Given the description of an element on the screen output the (x, y) to click on. 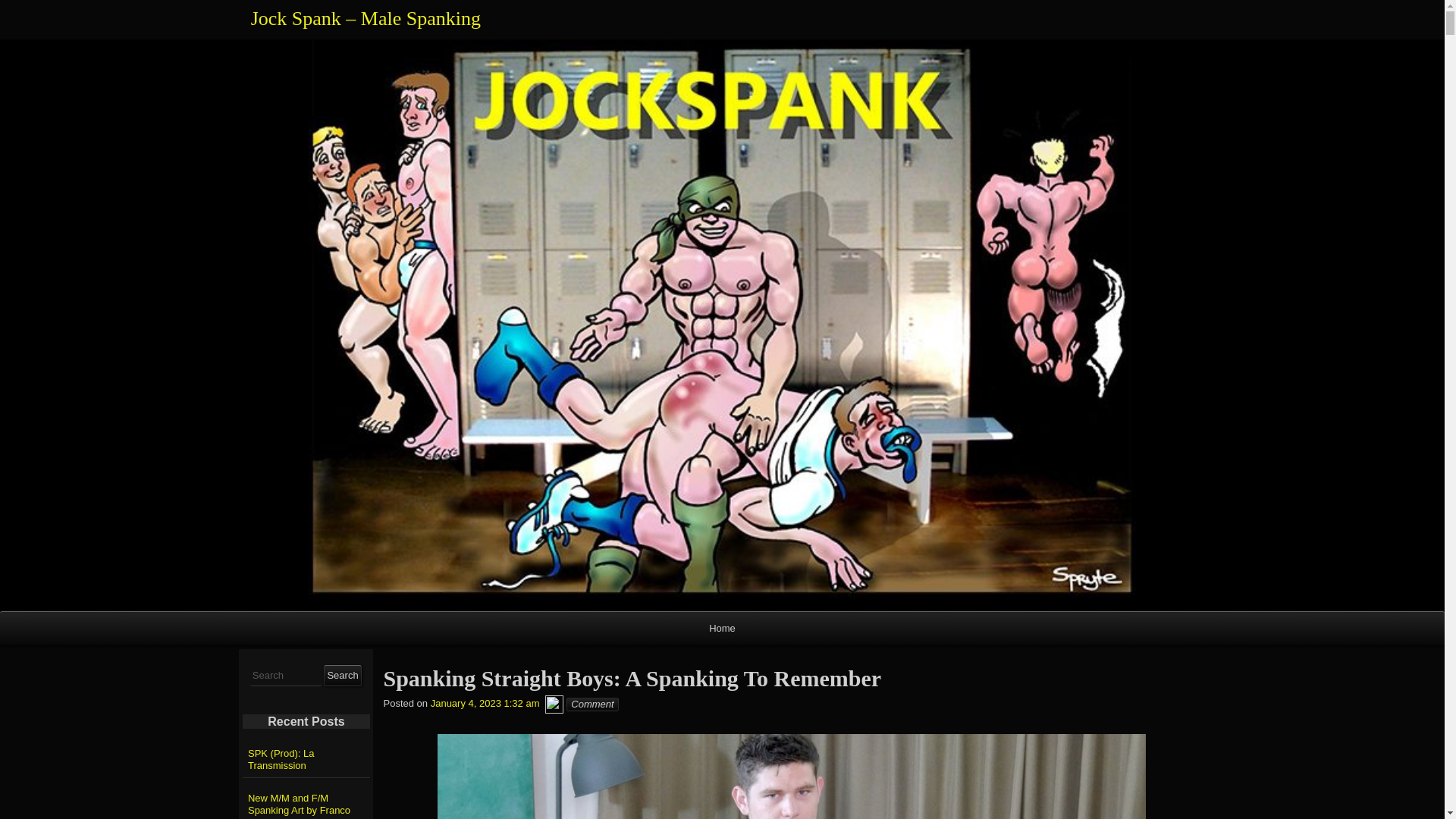
Search (342, 675)
Home (721, 628)
Comment (592, 704)
must not contain html tags (285, 675)
Ward (553, 704)
Search (342, 675)
January 4, 2023 1:32 am (485, 704)
